Given the description of an element on the screen output the (x, y) to click on. 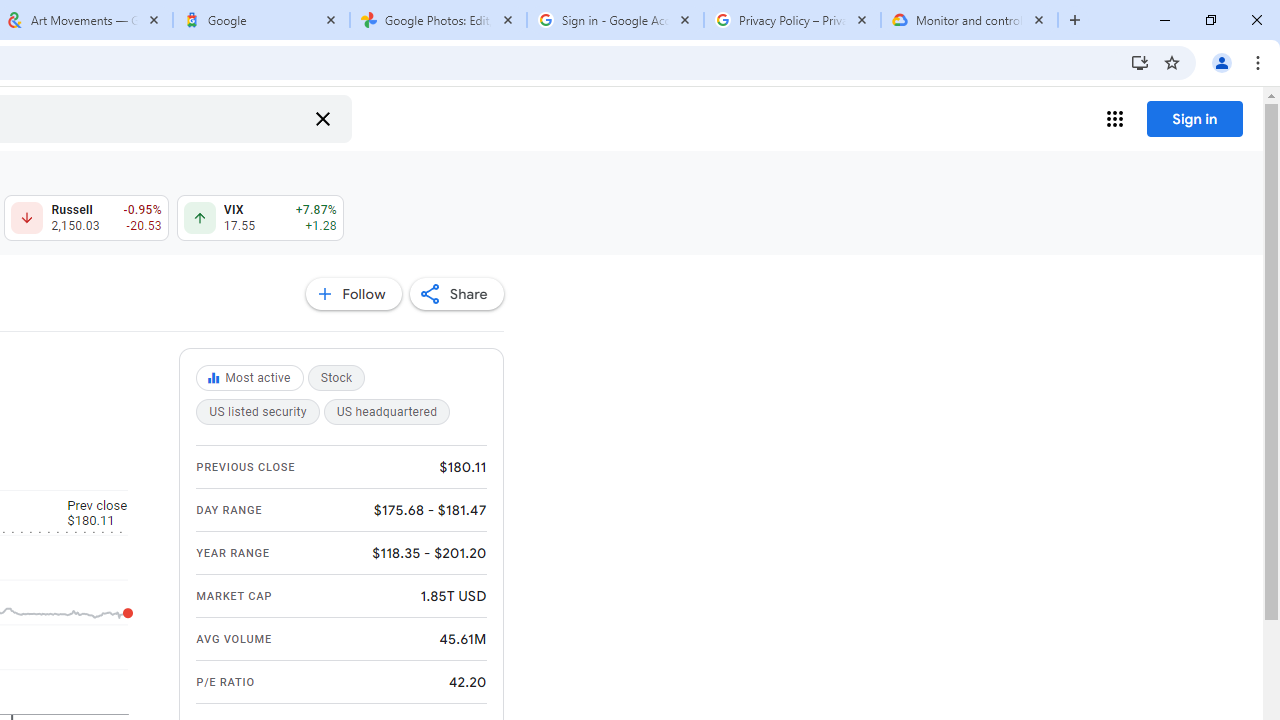
VIX 17.55 Up by 7.87% +1.28 (260, 218)
Sign in - Google Accounts (615, 20)
